Given the description of an element on the screen output the (x, y) to click on. 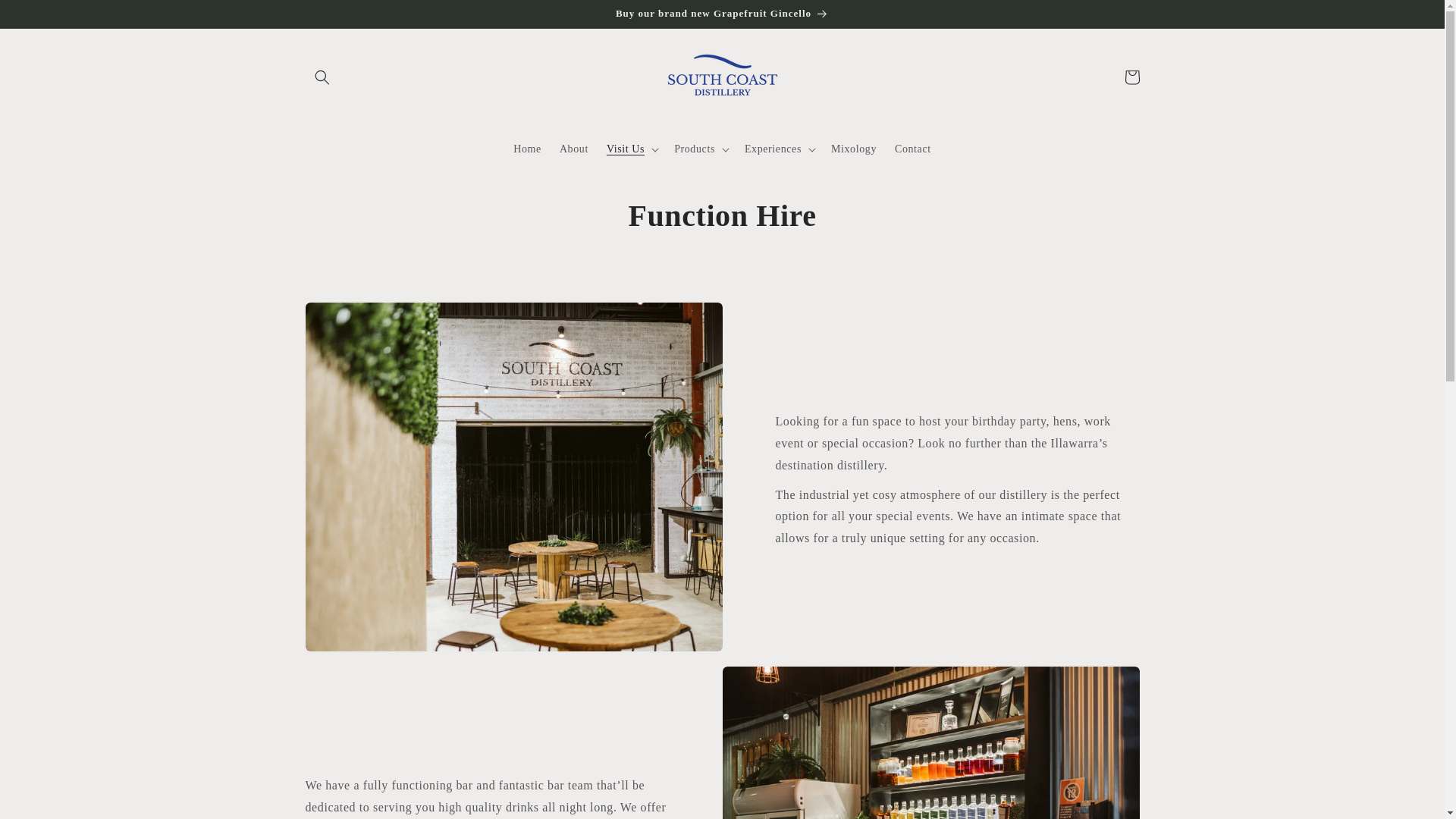
Home (526, 149)
About (573, 149)
Skip to content (45, 17)
Mixology (853, 149)
